Given the description of an element on the screen output the (x, y) to click on. 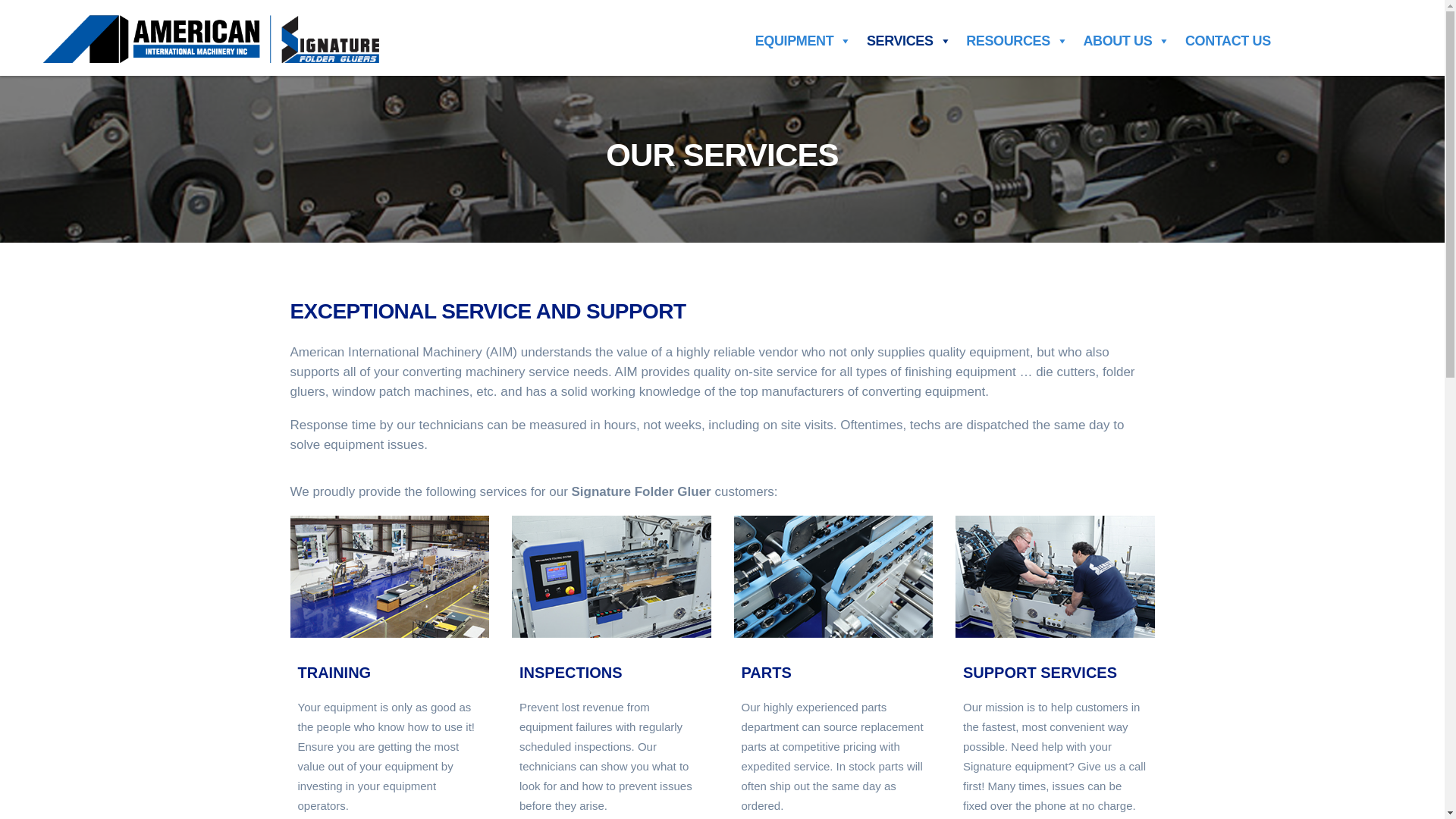
SERVICES (908, 40)
RESOURCES (1016, 40)
EQUIPMENT (803, 40)
ABOUT US (1126, 40)
